Given the description of an element on the screen output the (x, y) to click on. 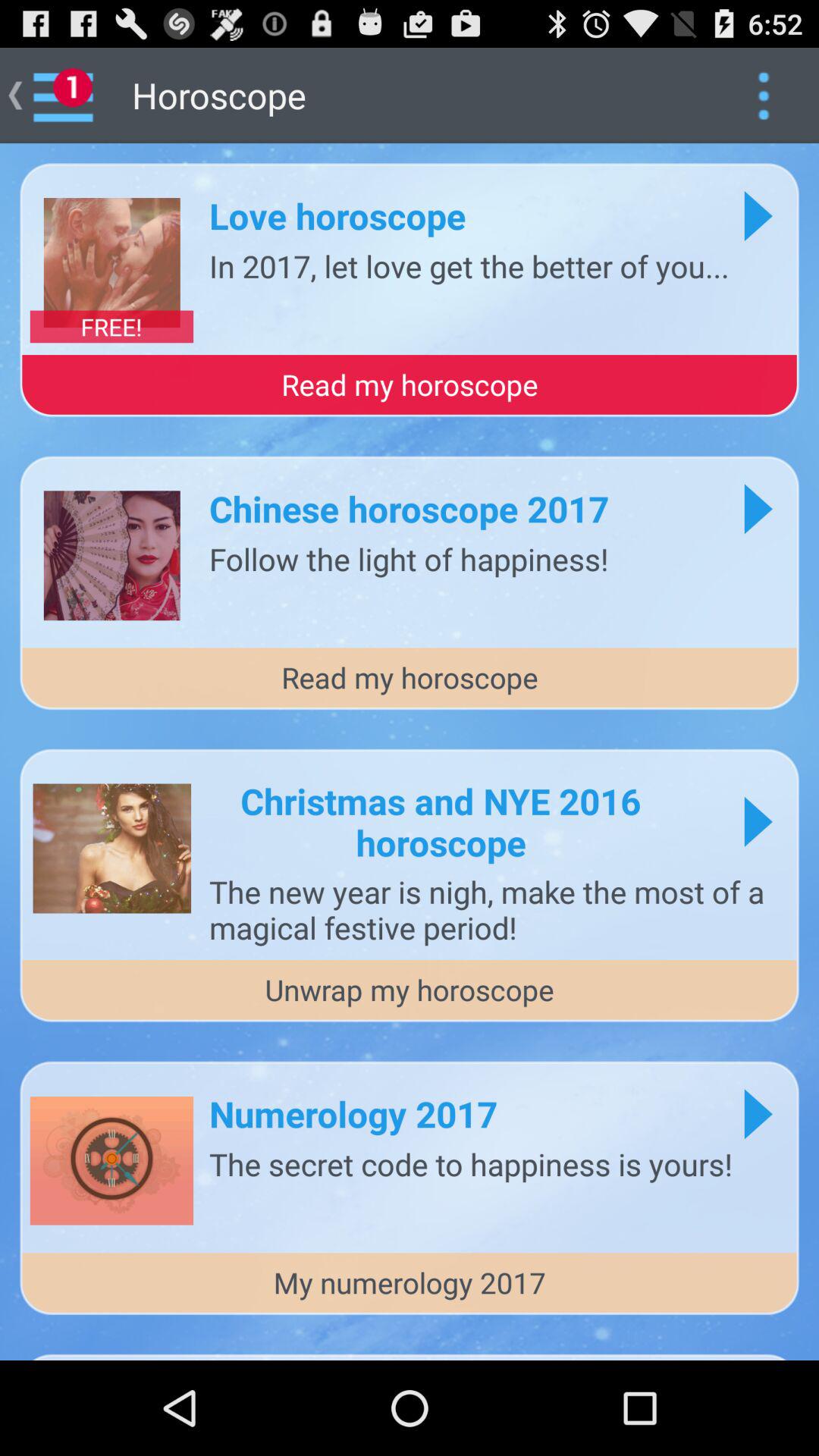
turn off the app above the follow the light (409, 508)
